Given the description of an element on the screen output the (x, y) to click on. 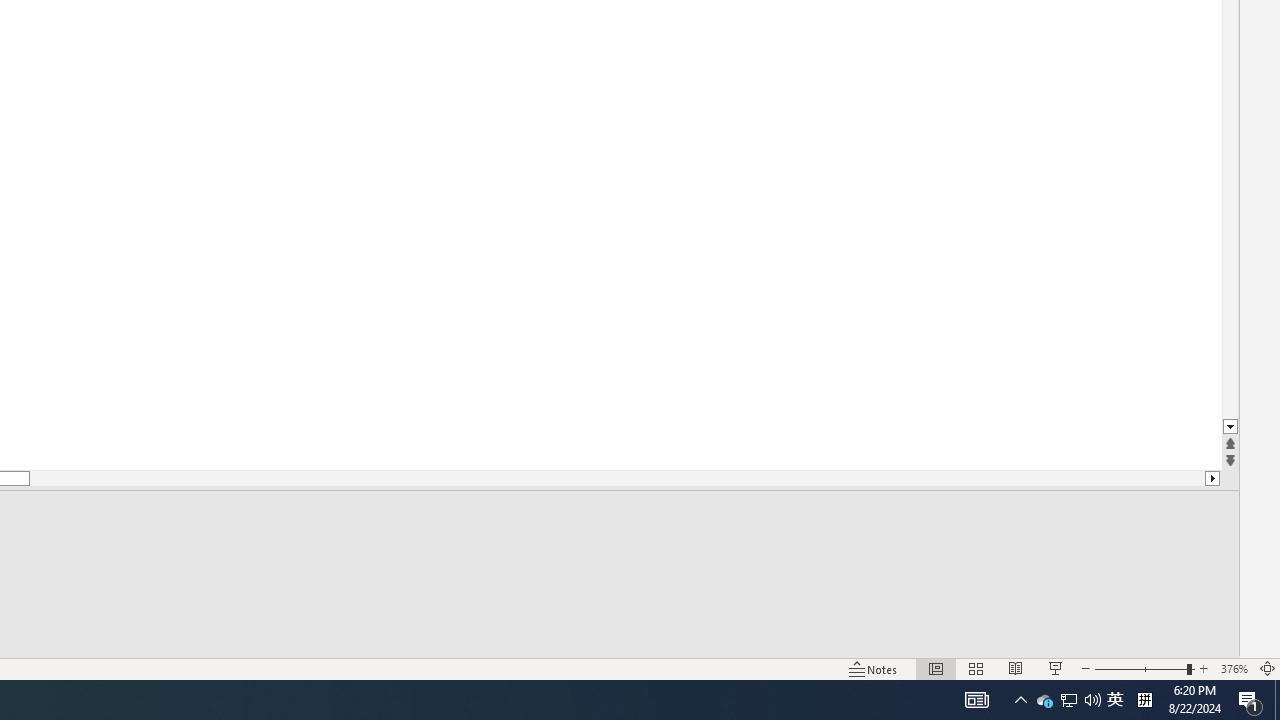
Zoom 376% (1234, 668)
